Given the description of an element on the screen output the (x, y) to click on. 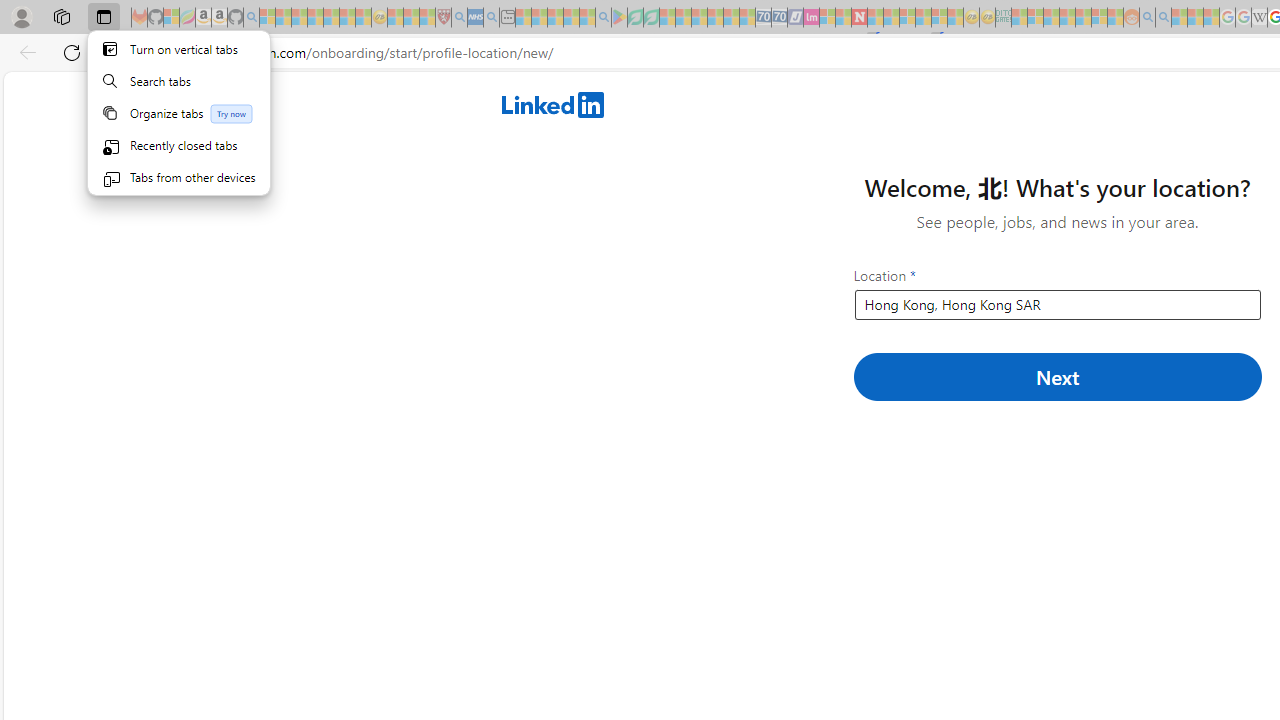
Kinda Frugal - MSN - Sleeping (1083, 17)
Turn on vertical tabs (179, 48)
